Given the description of an element on the screen output the (x, y) to click on. 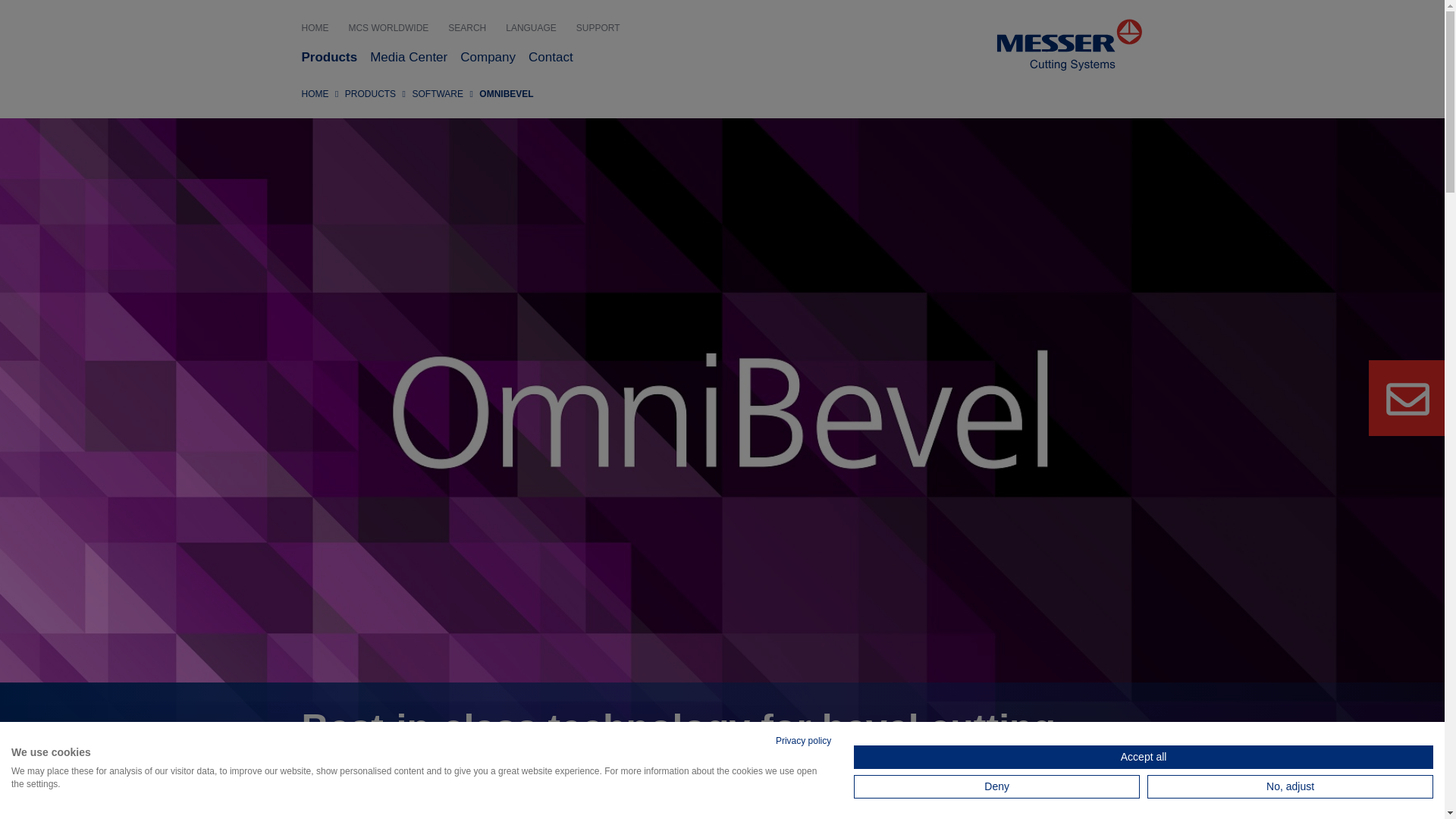
HOME (321, 28)
MCS WORLDWIDE (394, 28)
SEARCH (473, 28)
SUPPORT (604, 28)
HOME (315, 93)
PRODUCTS (370, 93)
Contact (557, 57)
OMNIBEVEL (505, 93)
SOFTWARE (437, 93)
LANGUAGE (537, 28)
